Given the description of an element on the screen output the (x, y) to click on. 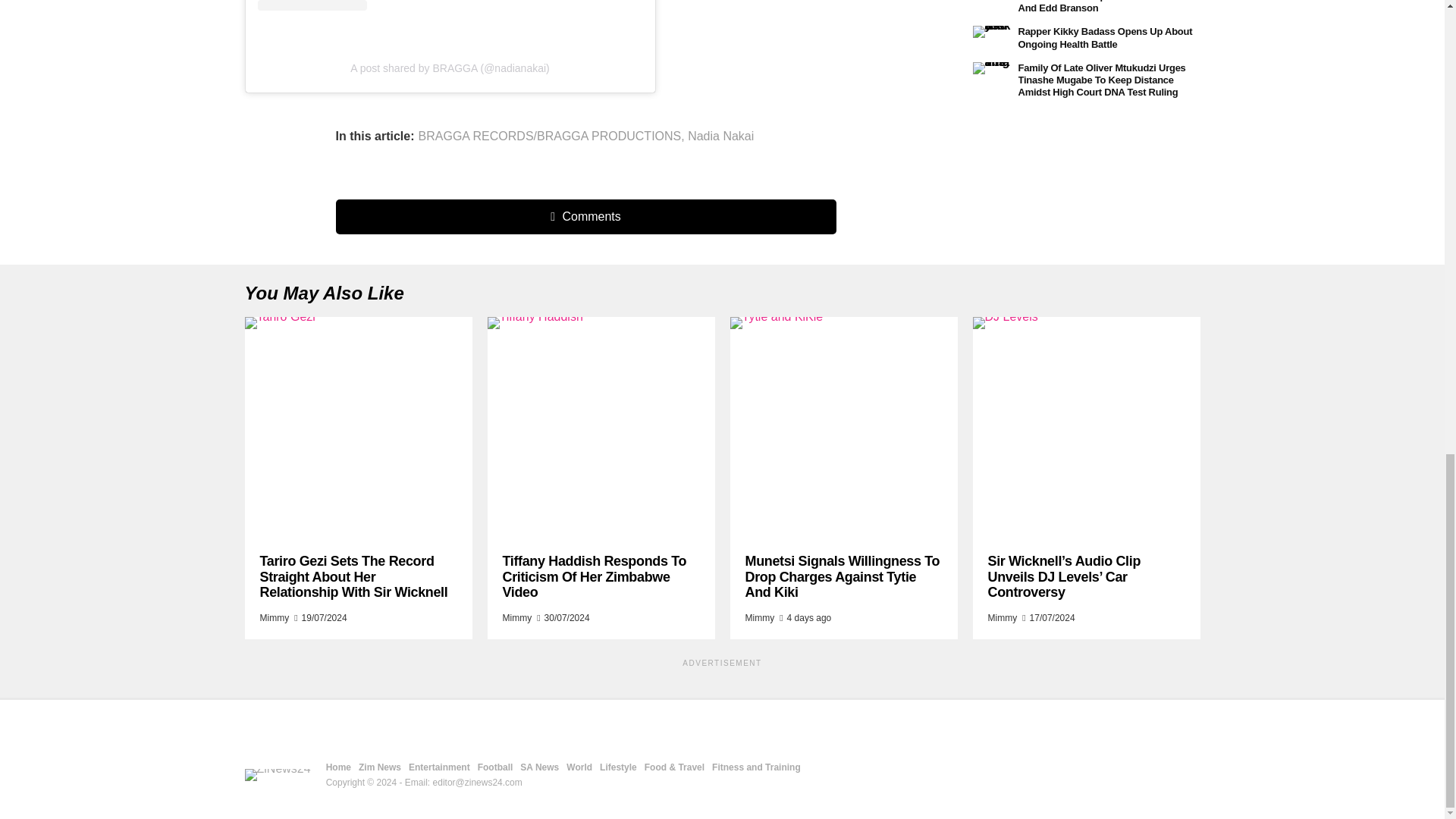
Nadia Nakai (720, 136)
Posts by Mimmy (273, 617)
Posts by Mimmy (516, 617)
